Given the description of an element on the screen output the (x, y) to click on. 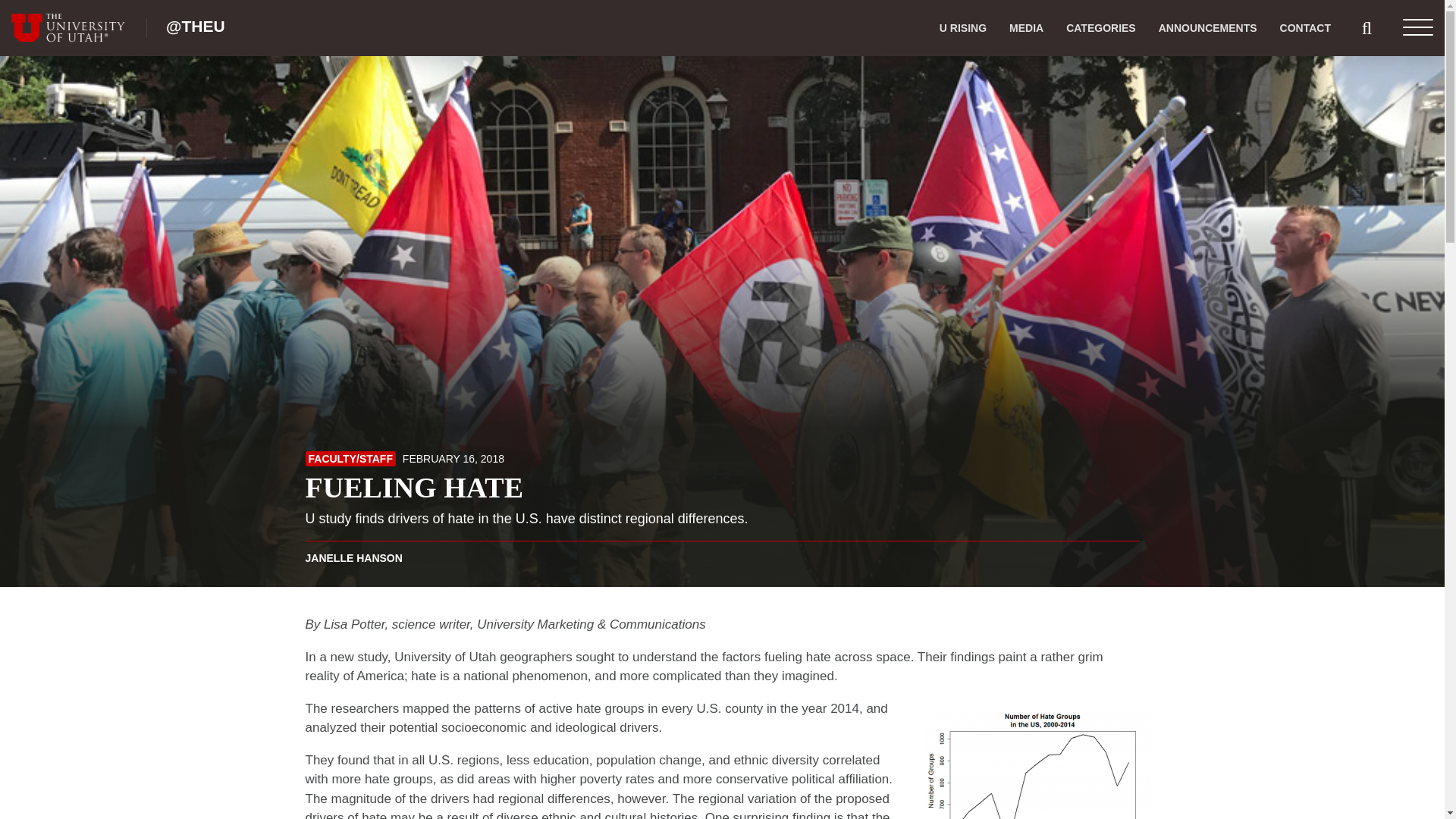
February 16, 2018 (453, 458)
MEDIA (1025, 28)
CATEGORIES (1100, 28)
U RISING (962, 28)
